Given the description of an element on the screen output the (x, y) to click on. 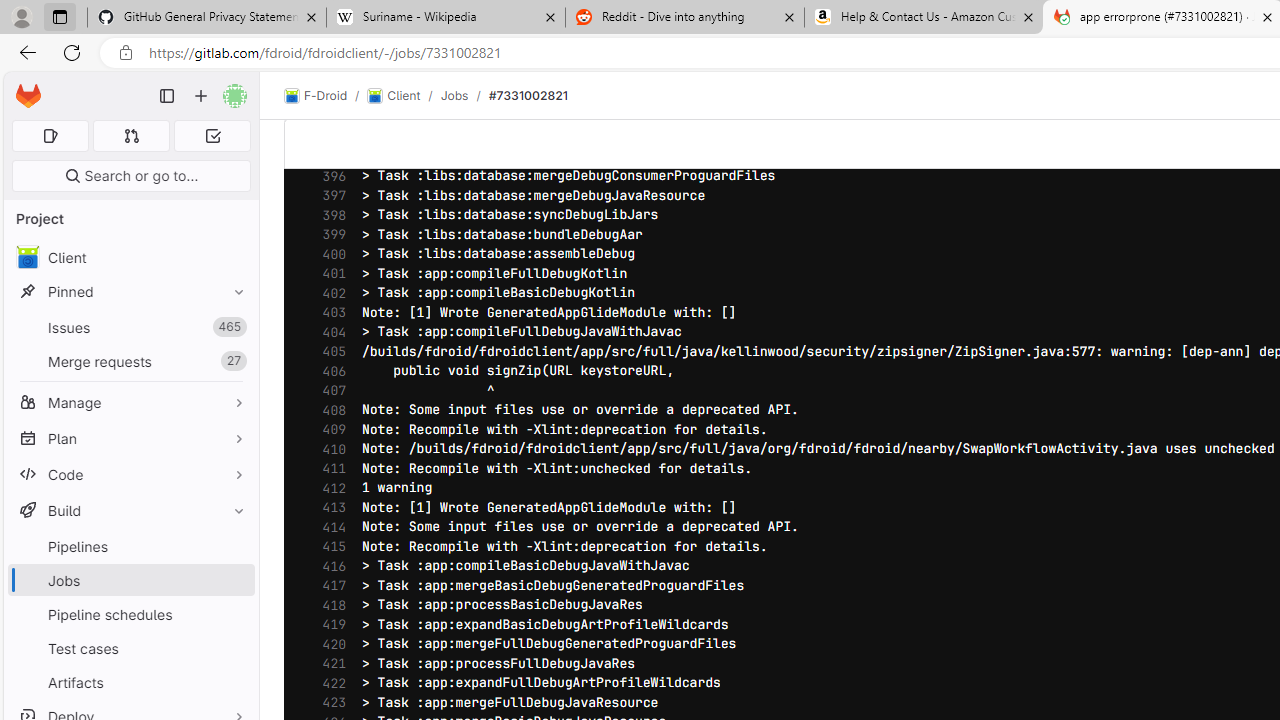
418 (329, 605)
Artifacts (130, 682)
Pipelines (130, 546)
402 (329, 292)
Client (394, 96)
417 (329, 586)
399 (329, 234)
Code (130, 474)
Test cases (130, 648)
#7331002821 (527, 95)
413 (329, 507)
avatar (27, 257)
416 (329, 565)
415 (329, 547)
